Given the description of an element on the screen output the (x, y) to click on. 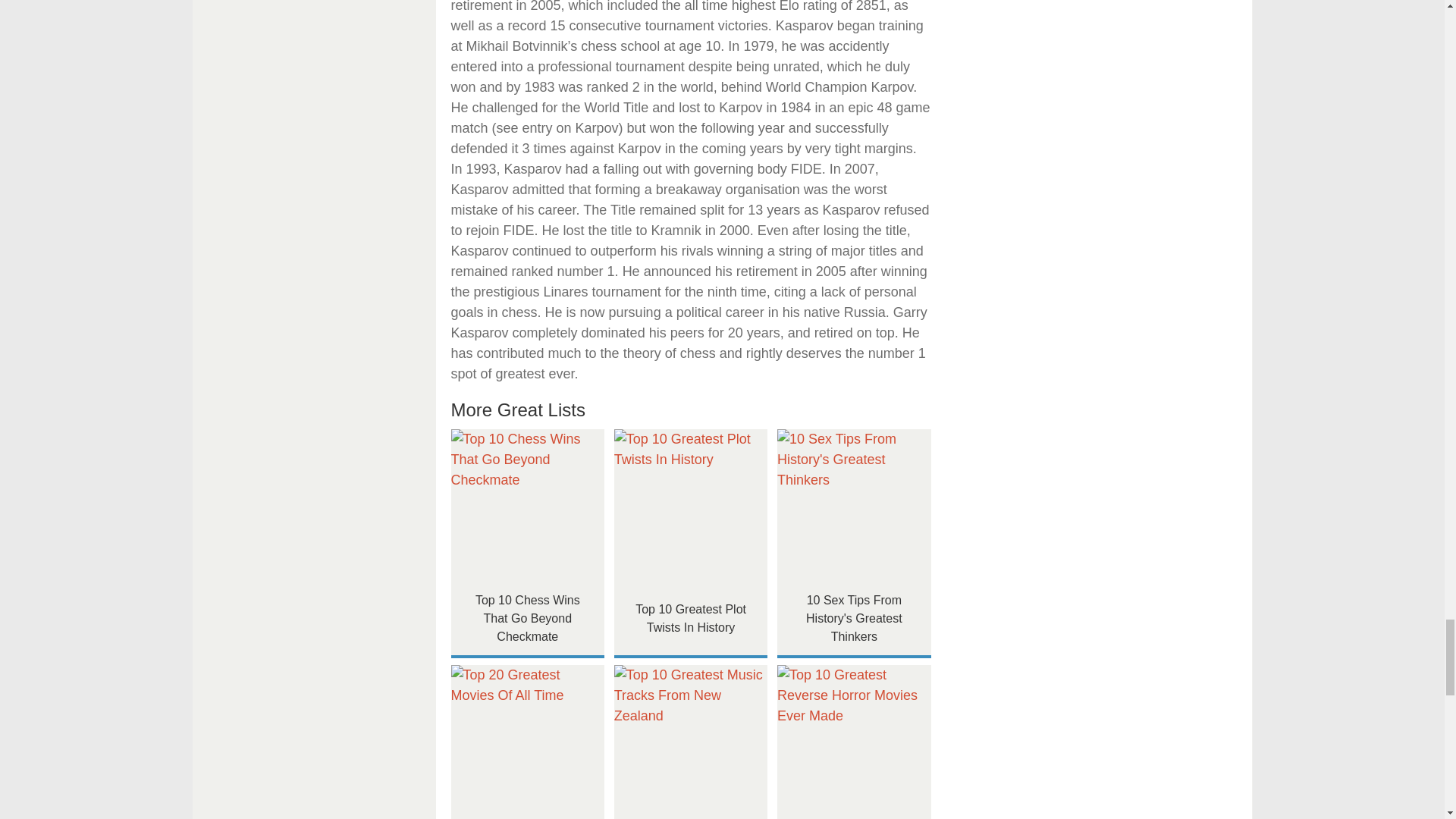
10 Sex Tips From History's Greatest Thinkers (854, 506)
Top 10 Greatest Plot Twists In History (691, 506)
Top 10 Chess Wins That Go Beyond Checkmate (526, 506)
